Given the description of an element on the screen output the (x, y) to click on. 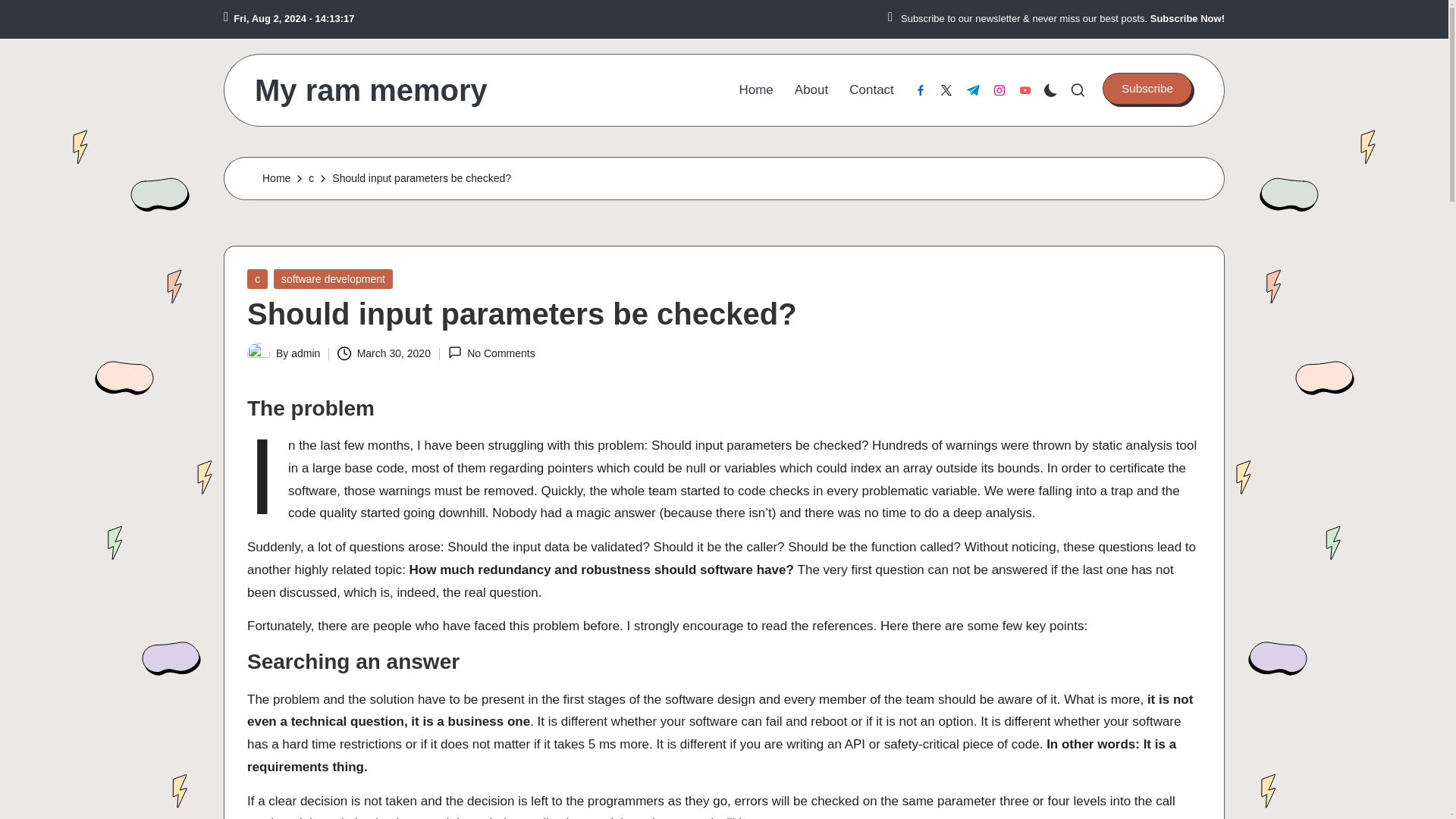
instagram.com (999, 90)
software development (333, 278)
My ram memory (370, 90)
youtube.com (1024, 90)
admin (305, 353)
t.me (973, 90)
Subscribe (1147, 88)
No Comments (491, 353)
twitter.com (946, 90)
Home (275, 178)
View all posts by admin (305, 353)
About (811, 89)
Home (755, 89)
facebook.com (920, 90)
c (257, 278)
